Given the description of an element on the screen output the (x, y) to click on. 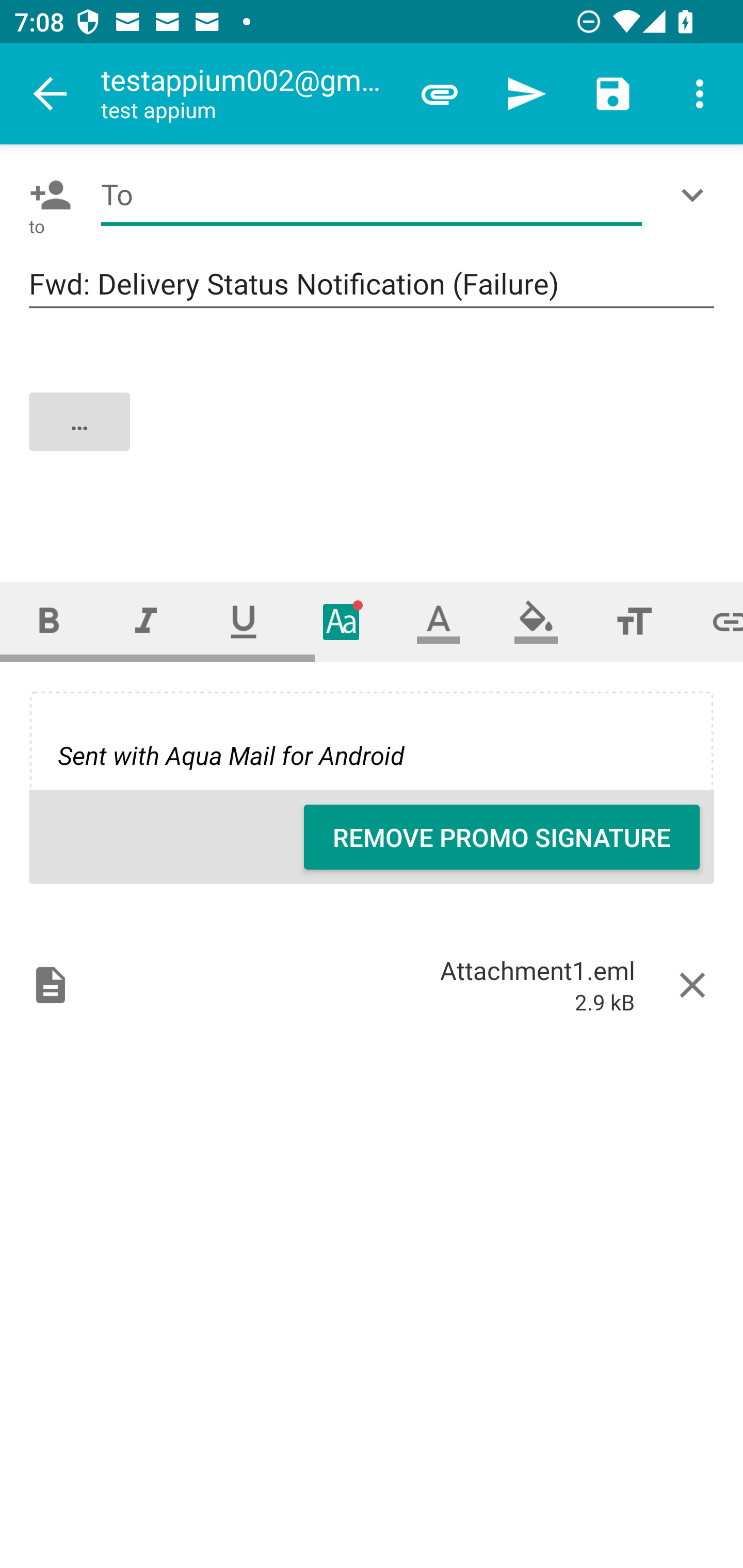
Navigate up (50, 93)
testappium002@gmail.com test appium (248, 93)
Attach (439, 93)
Send (525, 93)
Save (612, 93)
More options (699, 93)
Pick contact: To (46, 195)
Show/Add CC/BCC (696, 195)
To (371, 195)
Fwd: Delivery Status Notification (Failure) (371, 284)

…
 (372, 438)
Bold (48, 621)
Italic (145, 621)
Underline (243, 621)
Typeface (font) (341, 621)
Text color (438, 621)
Fill color (536, 621)
Font size (633, 621)
REMOVE PROMO SIGNATURE (501, 837)
Attachment1.eml 2.9 kB Delete (371, 984)
Delete (692, 984)
